Given the description of an element on the screen output the (x, y) to click on. 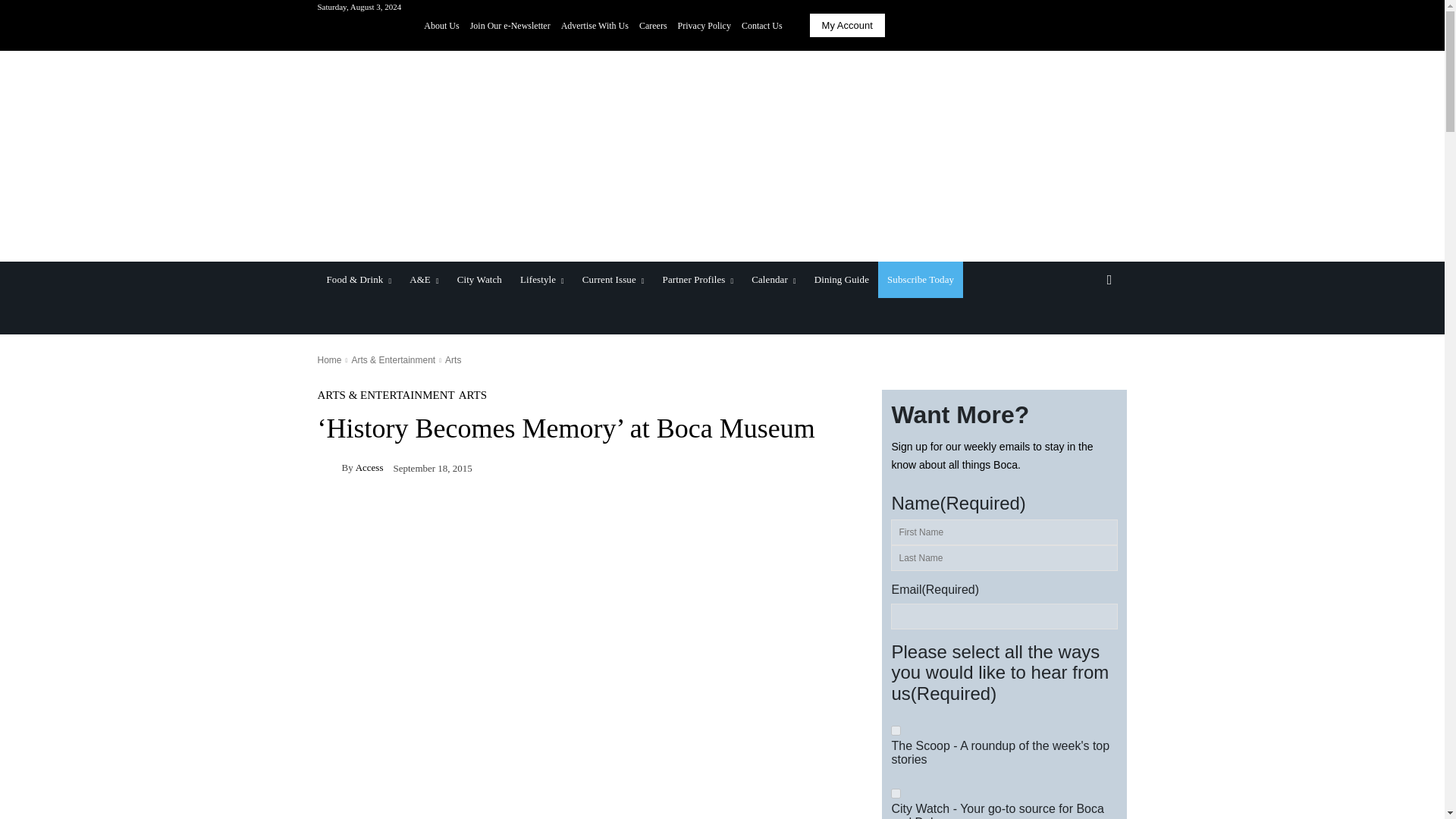
Instagram (1073, 25)
Facebook (1052, 25)
Twitter (1115, 25)
Pinterest (1094, 25)
City Watch - Your go-to source for Boca and Delray news (896, 793)
My Account (847, 24)
The Scoop - A roundup of the week's top stories (896, 730)
